Given the description of an element on the screen output the (x, y) to click on. 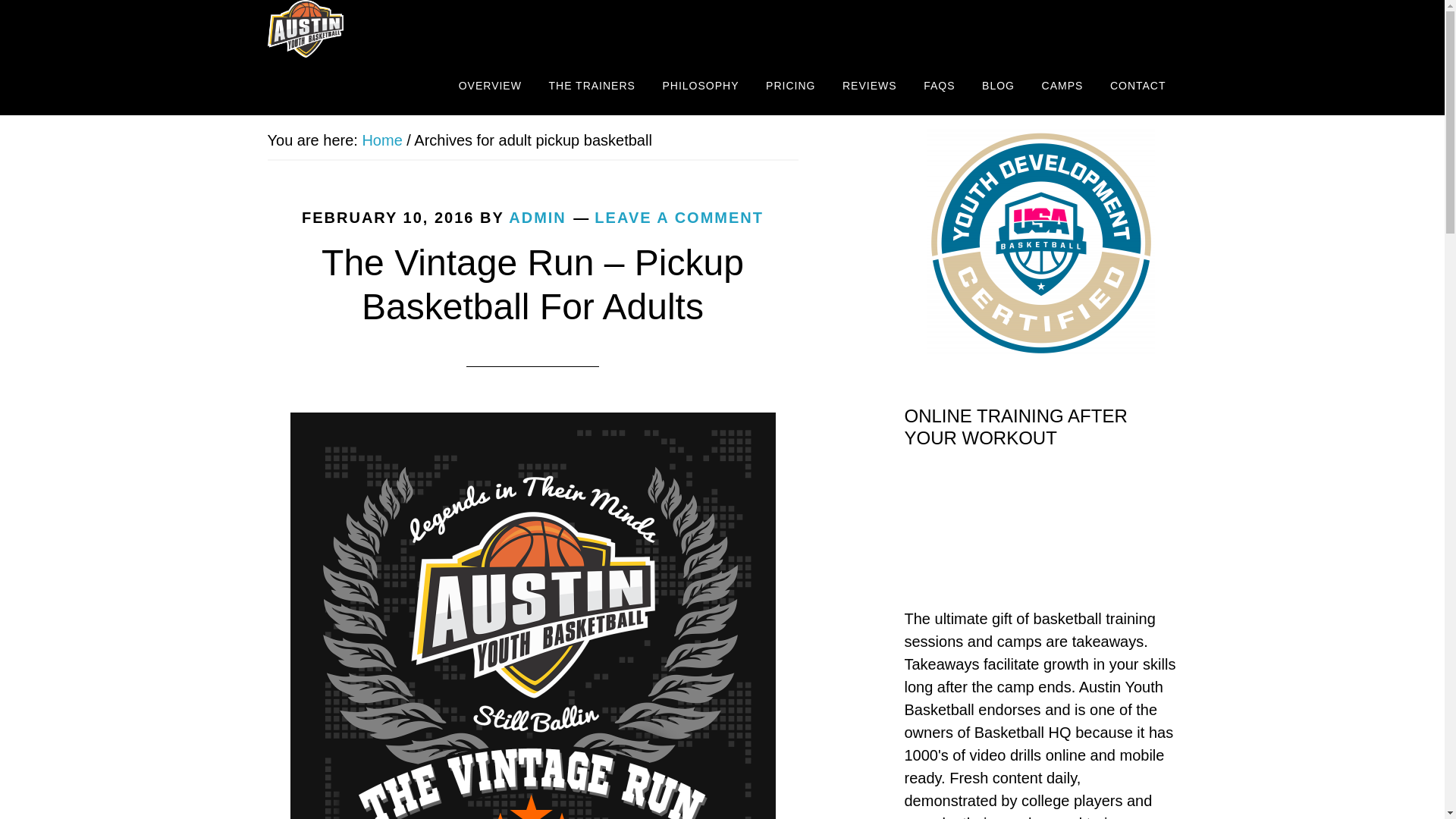
CONTACT (1138, 86)
Basketball Training Philosophy (699, 86)
Basketball Trainers: Meet Them (591, 86)
AUSTIN YOUTH BASKETBALL (380, 28)
OVERVIEW (489, 86)
ADMIN (537, 217)
CAMPS (1062, 86)
Basketball Training Reviews (869, 86)
THE TRAINERS (591, 86)
Austin Youth Basketball Blog (998, 86)
LEAVE A COMMENT (678, 217)
Contact Basketball Trainer Chris Corbett (1138, 86)
Home (381, 139)
PRICING (790, 86)
REVIEWS (869, 86)
